Given the description of an element on the screen output the (x, y) to click on. 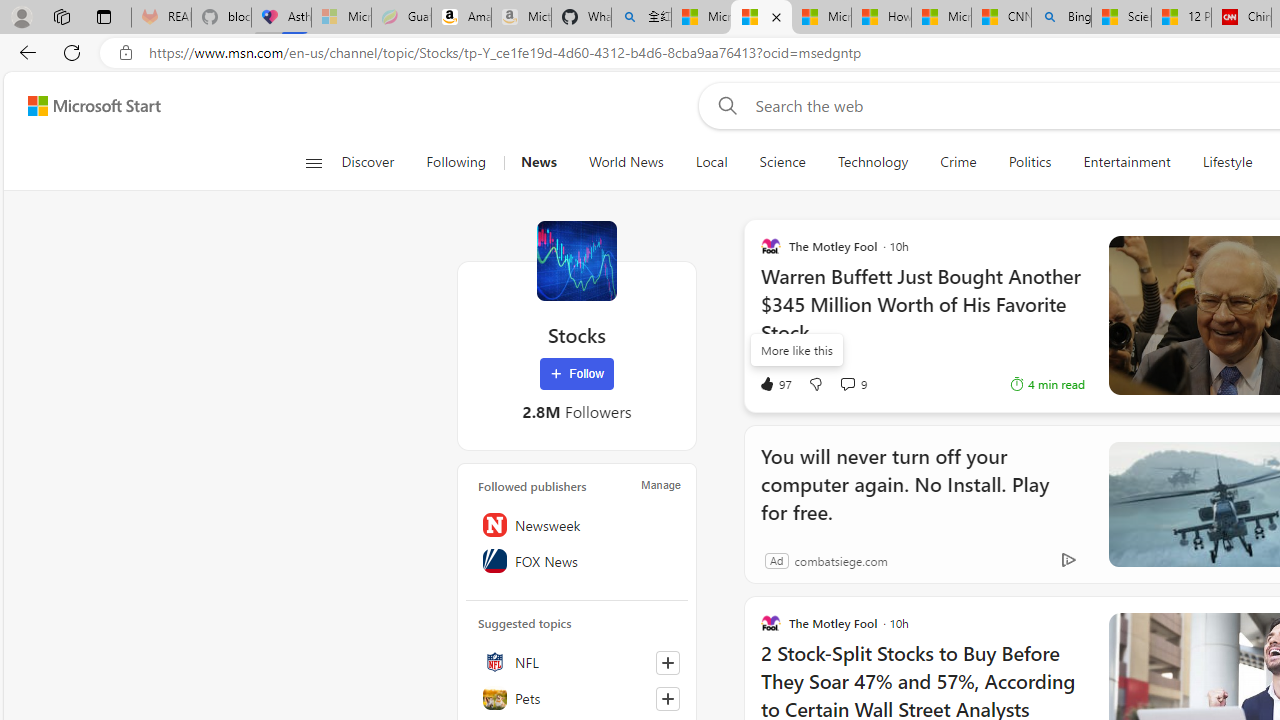
Stocks (576, 260)
View comments 9 Comment (847, 383)
